Given the description of an element on the screen output the (x, y) to click on. 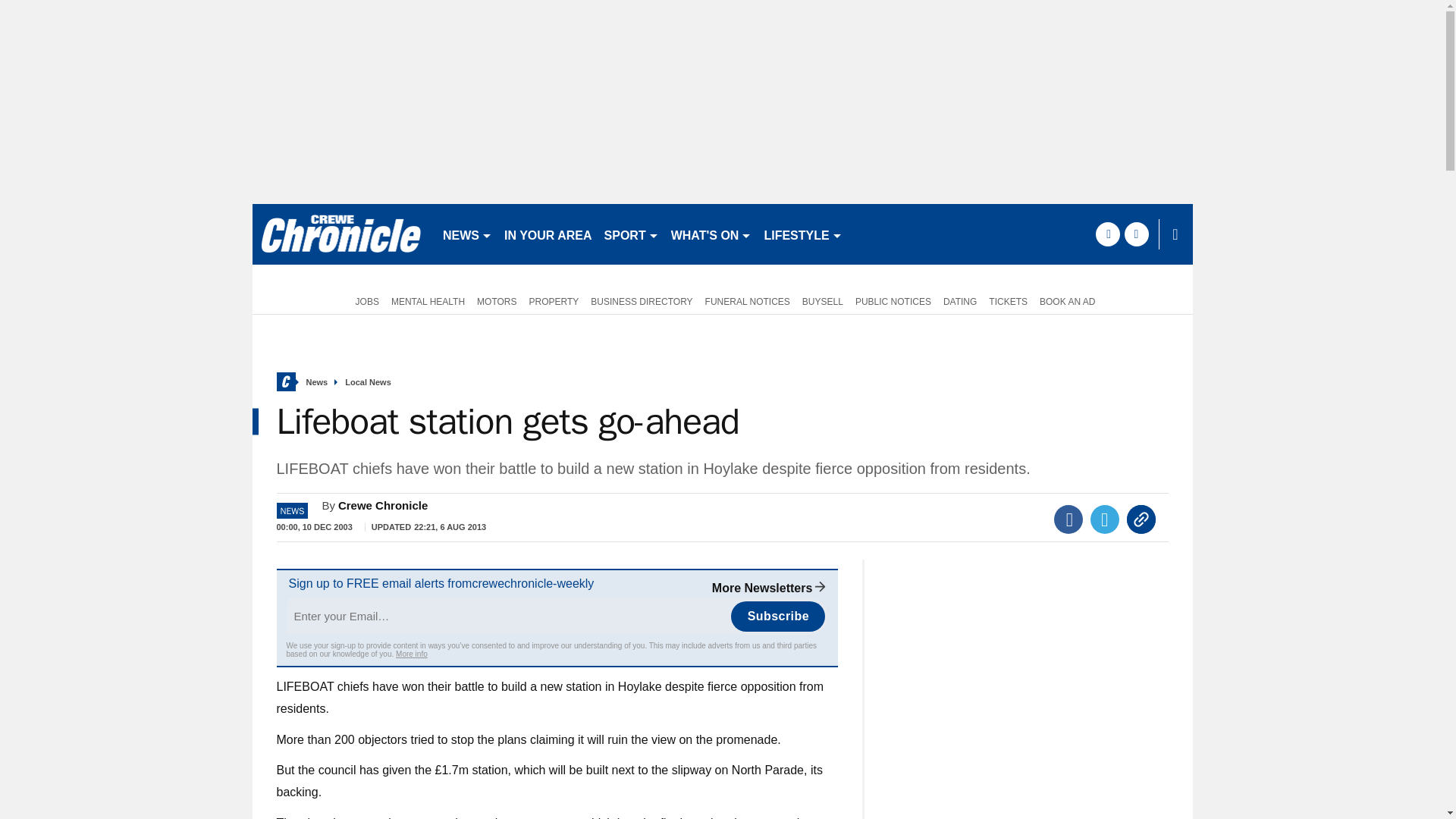
Twitter (1104, 519)
twitter (1136, 233)
NEWS (466, 233)
SPORT (631, 233)
LIFESTYLE (802, 233)
WHAT'S ON (711, 233)
facebook (1106, 233)
Facebook (1068, 519)
IN YOUR AREA (547, 233)
crewechronicle (340, 233)
